Given the description of an element on the screen output the (x, y) to click on. 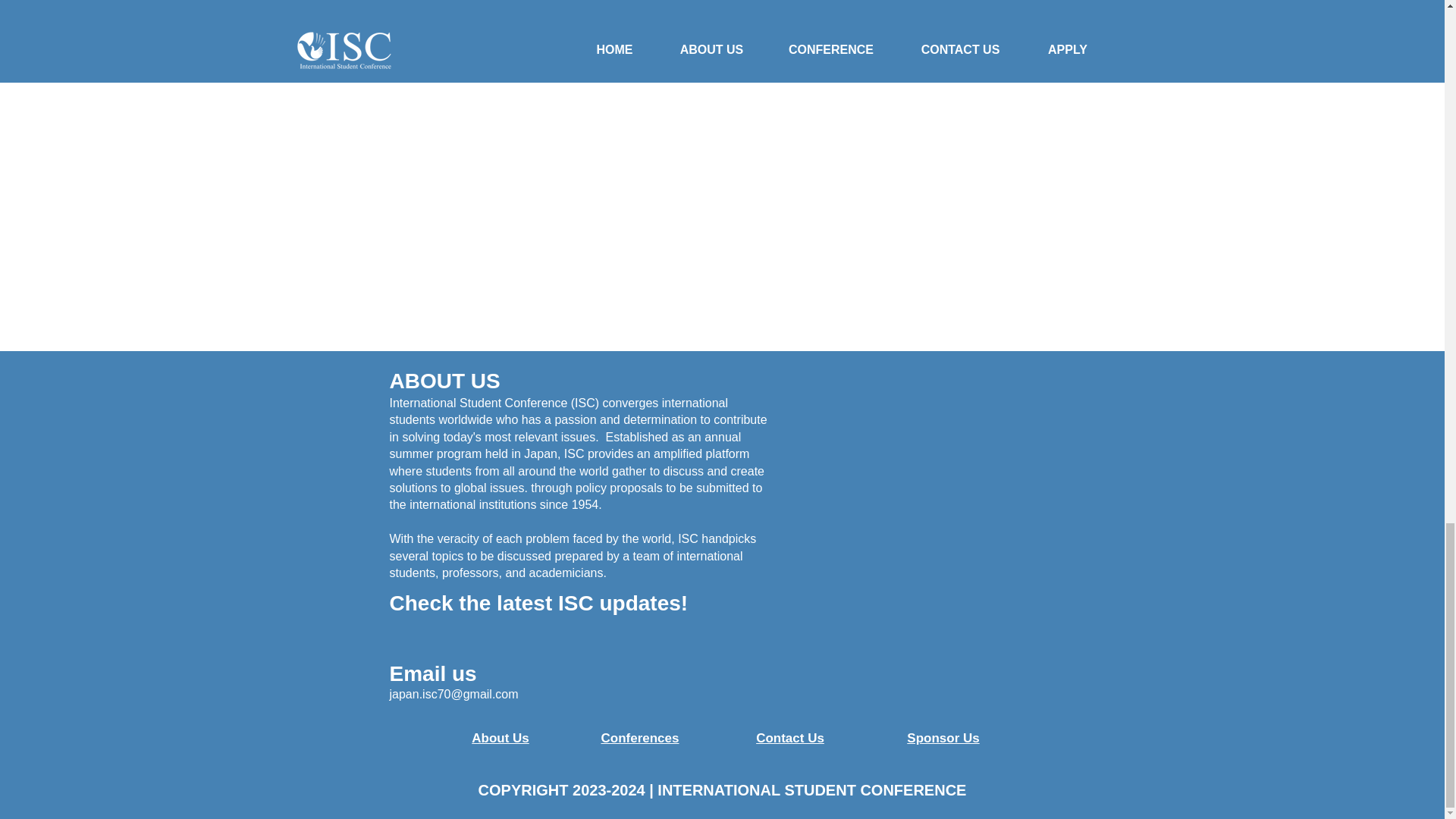
Contact Us (789, 738)
About Us (500, 738)
Sponsor Us (942, 738)
Conferences (638, 738)
